Given the description of an element on the screen output the (x, y) to click on. 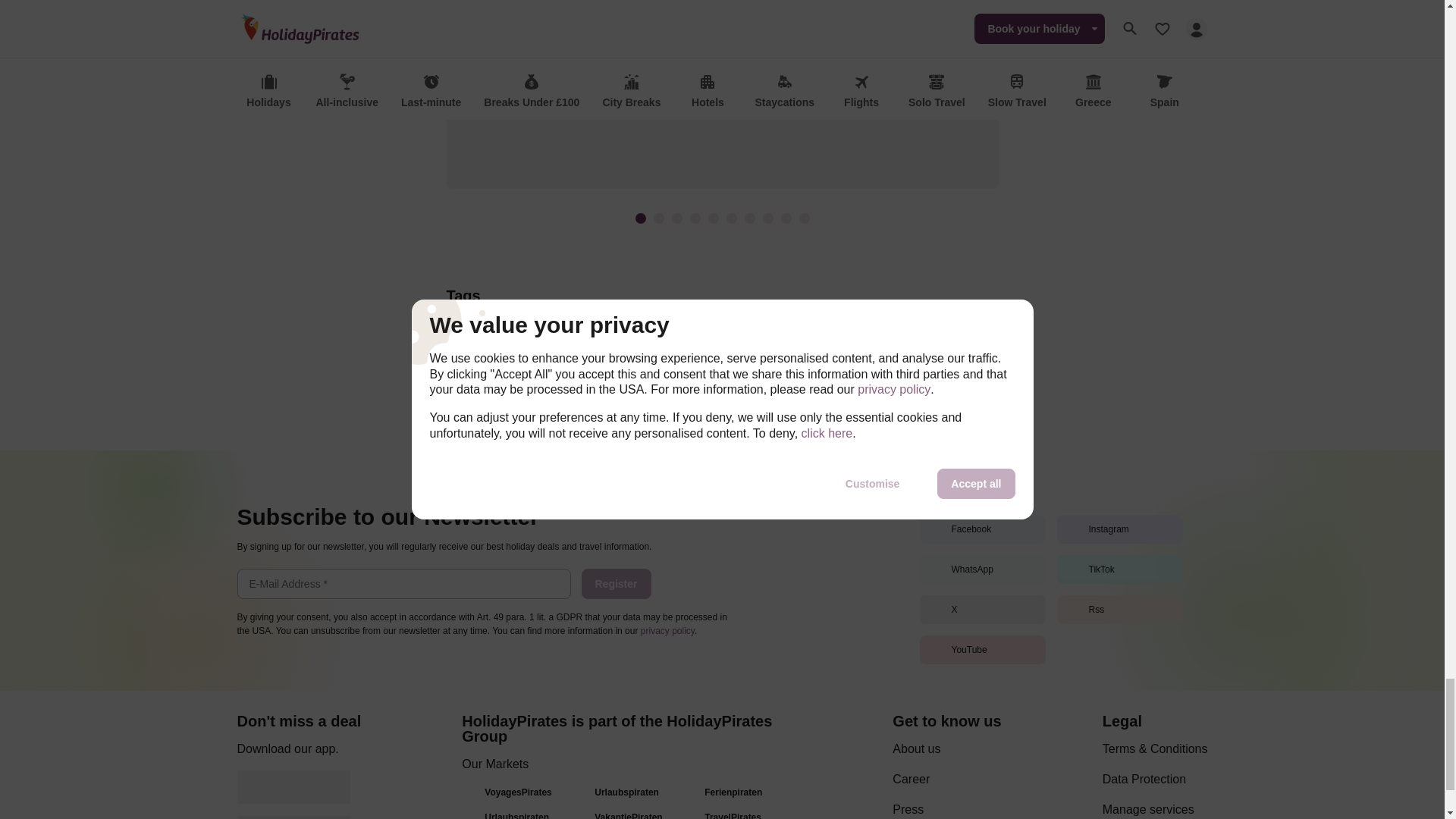
apple (292, 817)
Image-5 (713, 217)
Image-10 (804, 217)
google (292, 786)
Image-2 (658, 217)
Image-7 (749, 217)
Image-4 (695, 217)
Image-1 (640, 217)
Image-3 (676, 217)
Image-8 (767, 217)
